Given the description of an element on the screen output the (x, y) to click on. 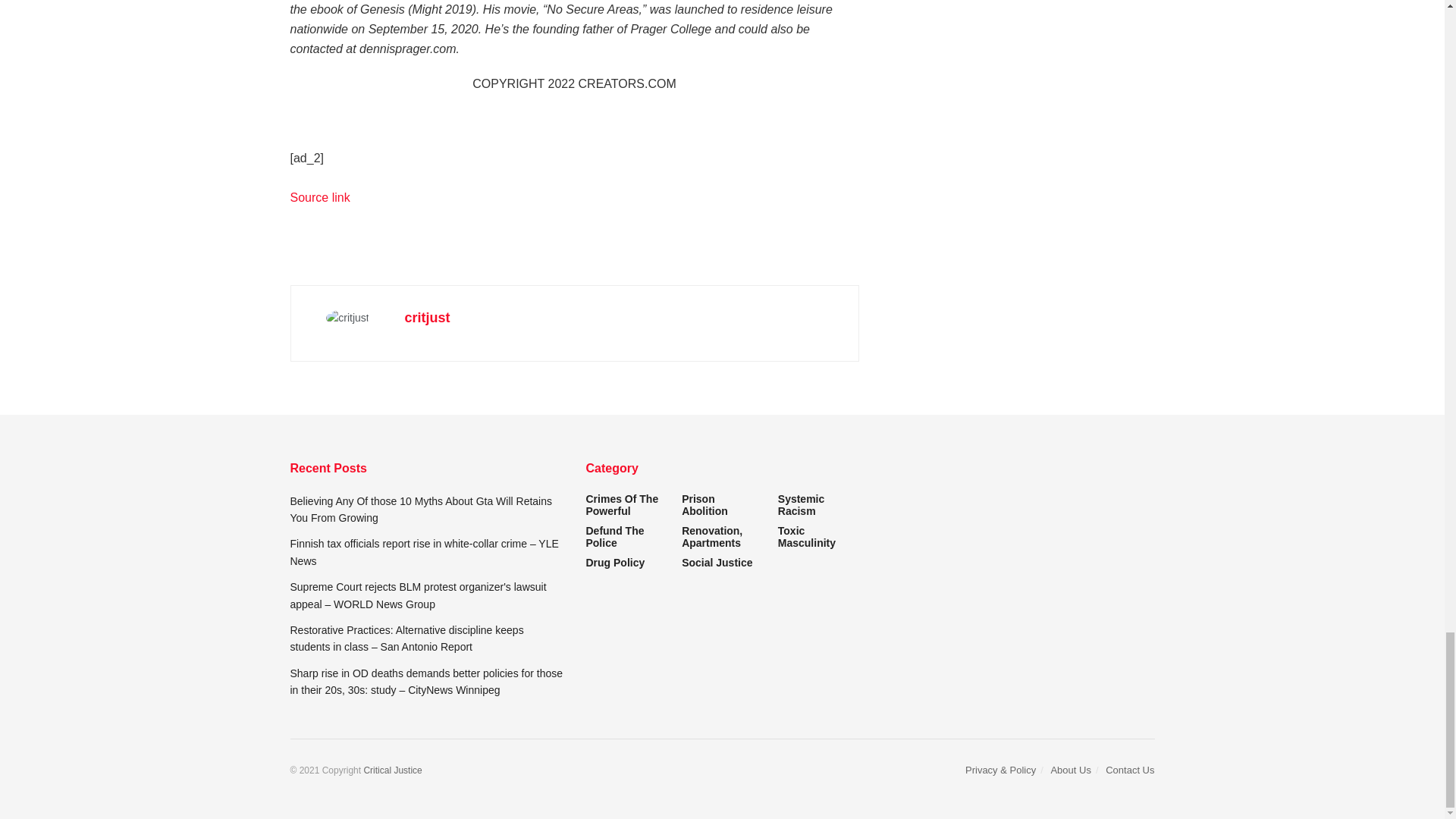
critjust (426, 317)
Source link (319, 196)
